Given the description of an element on the screen output the (x, y) to click on. 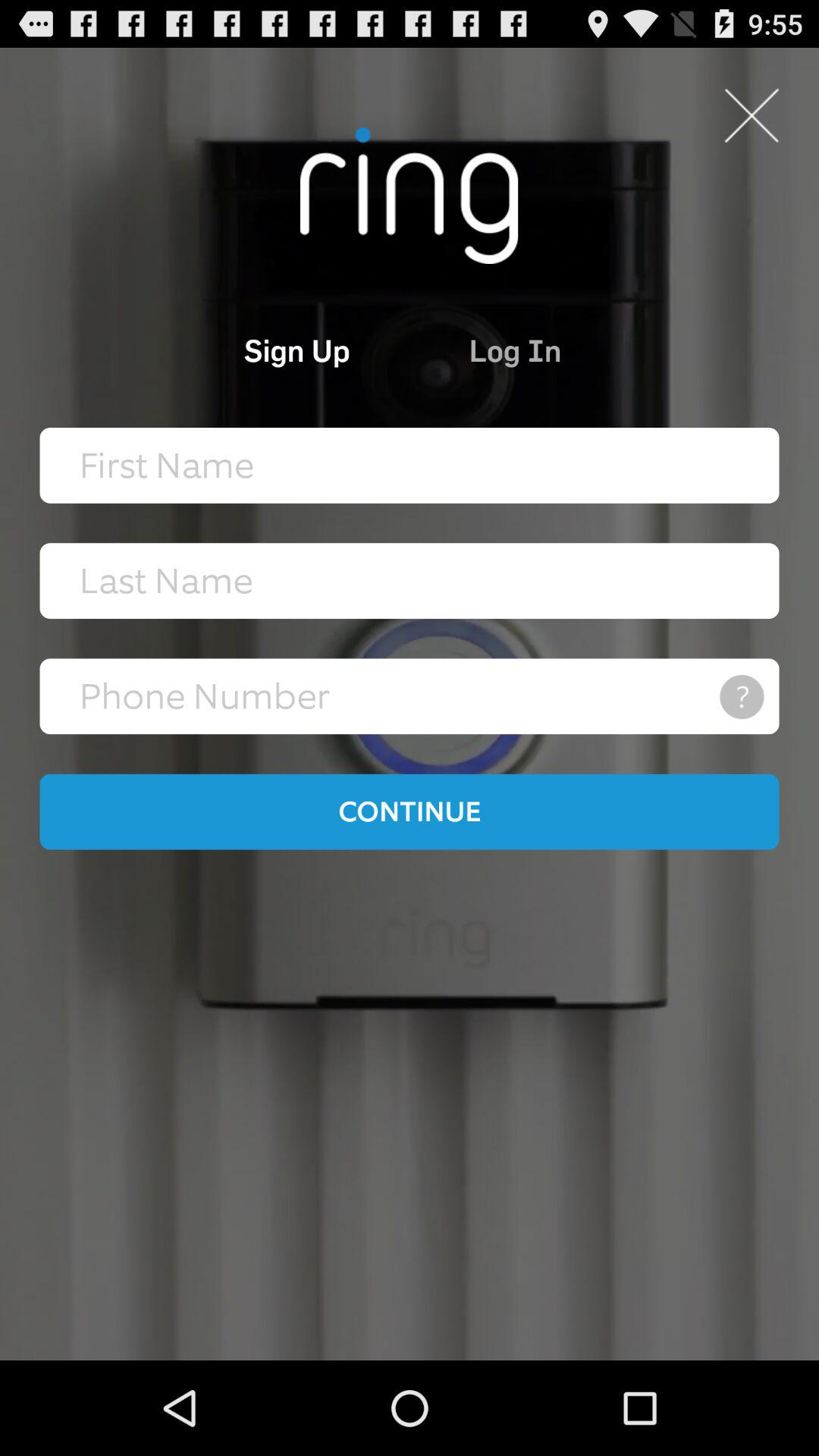
turn off the continue item (409, 811)
